Given the description of an element on the screen output the (x, y) to click on. 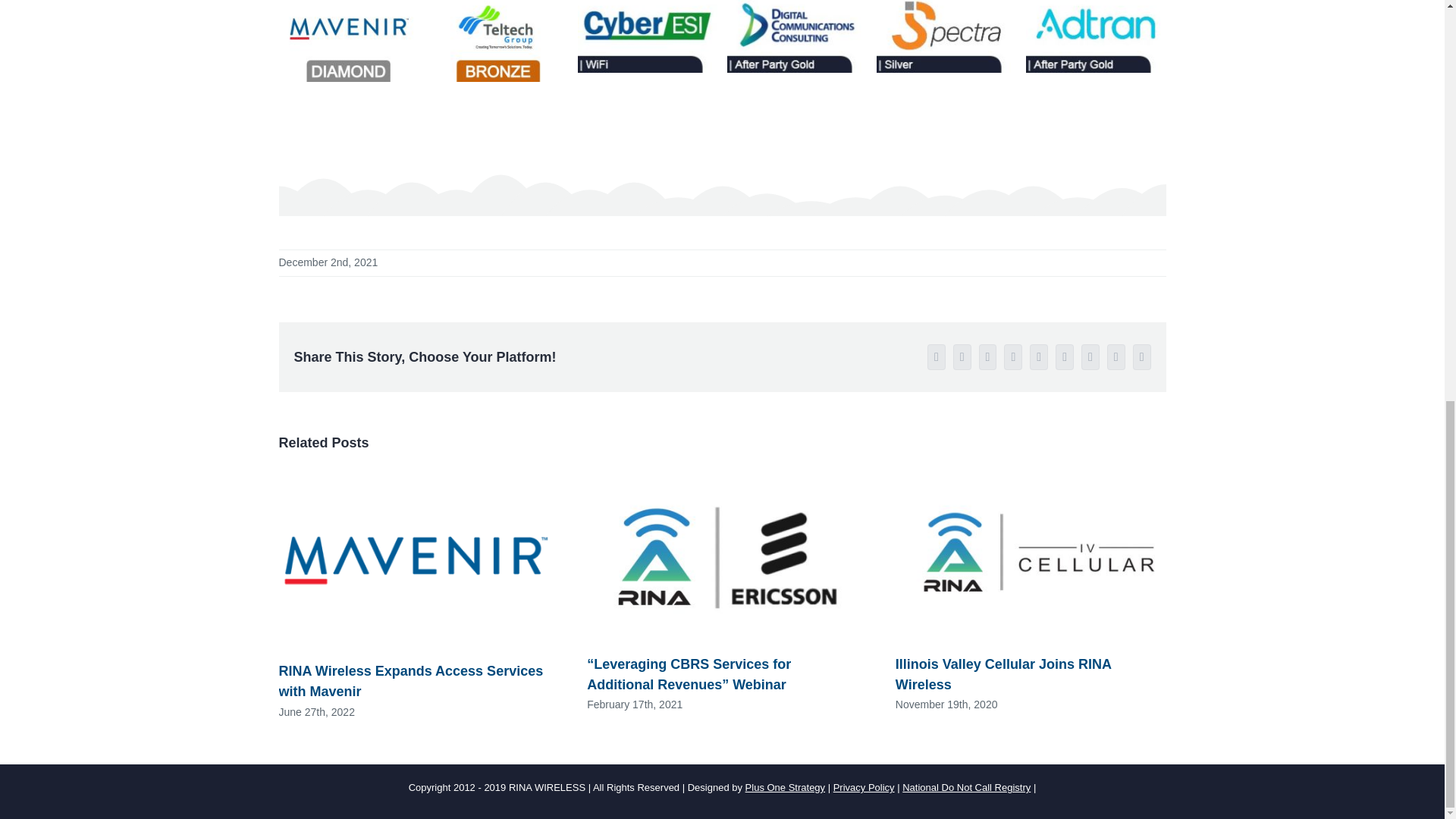
RINA Wireless Expands Access Services with Mavenir (411, 681)
Illinois Valley Cellular Joins RINA Wireless (1002, 674)
